Given the description of an element on the screen output the (x, y) to click on. 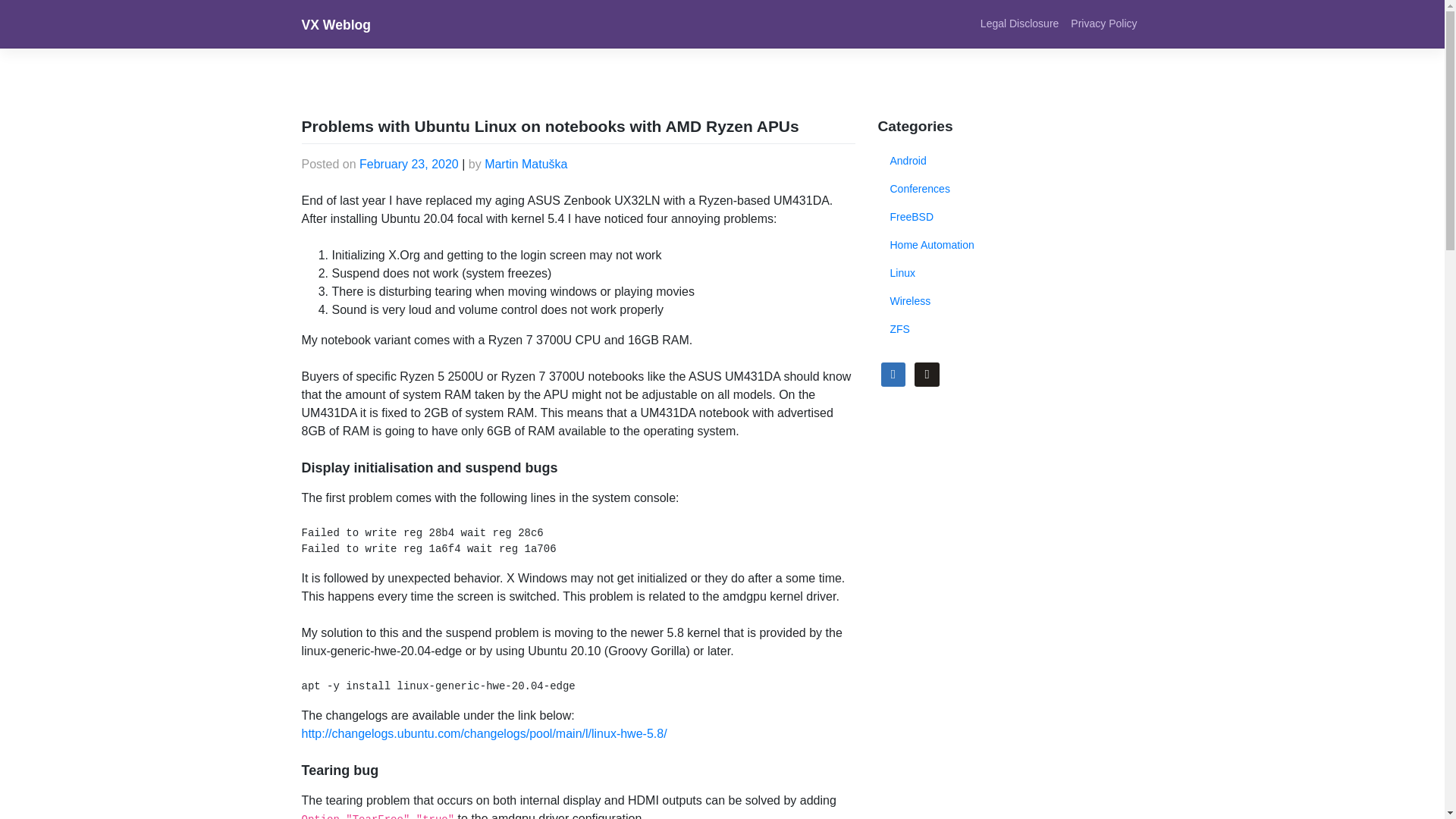
Android (908, 161)
Linux (902, 273)
github (926, 373)
February 23, 2020 (408, 164)
Privacy Policy (1103, 23)
Legal Disclosure (1019, 23)
Legal Disclosure (1019, 23)
FreeBSD (911, 216)
Wireless (910, 301)
linkedin (892, 373)
Default Label (926, 373)
Privacy Policy (1103, 23)
Conferences (919, 189)
Default Label (892, 373)
VX Weblog (336, 24)
